Given the description of an element on the screen output the (x, y) to click on. 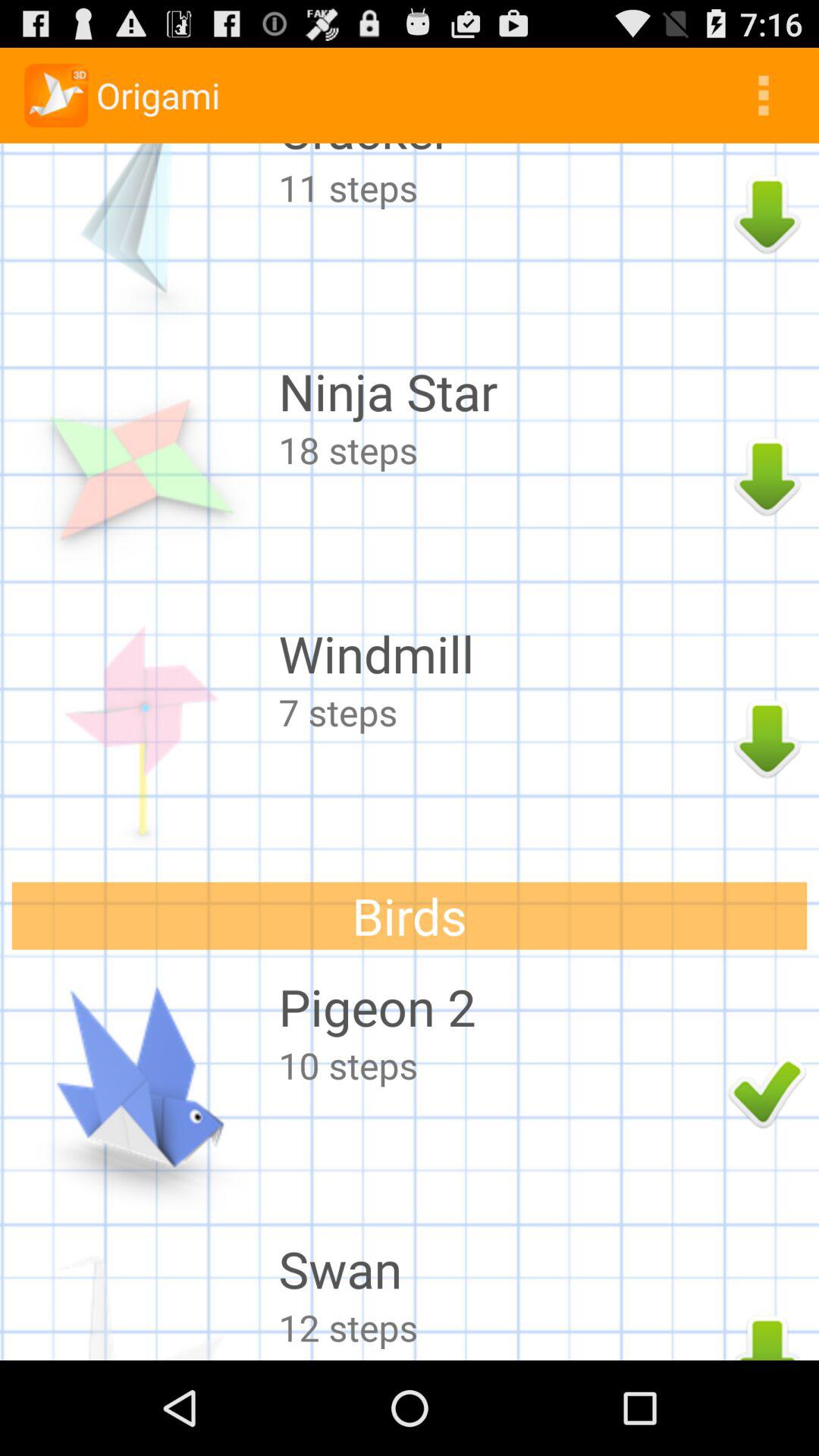
swipe to 12 steps item (498, 1327)
